Given the description of an element on the screen output the (x, y) to click on. 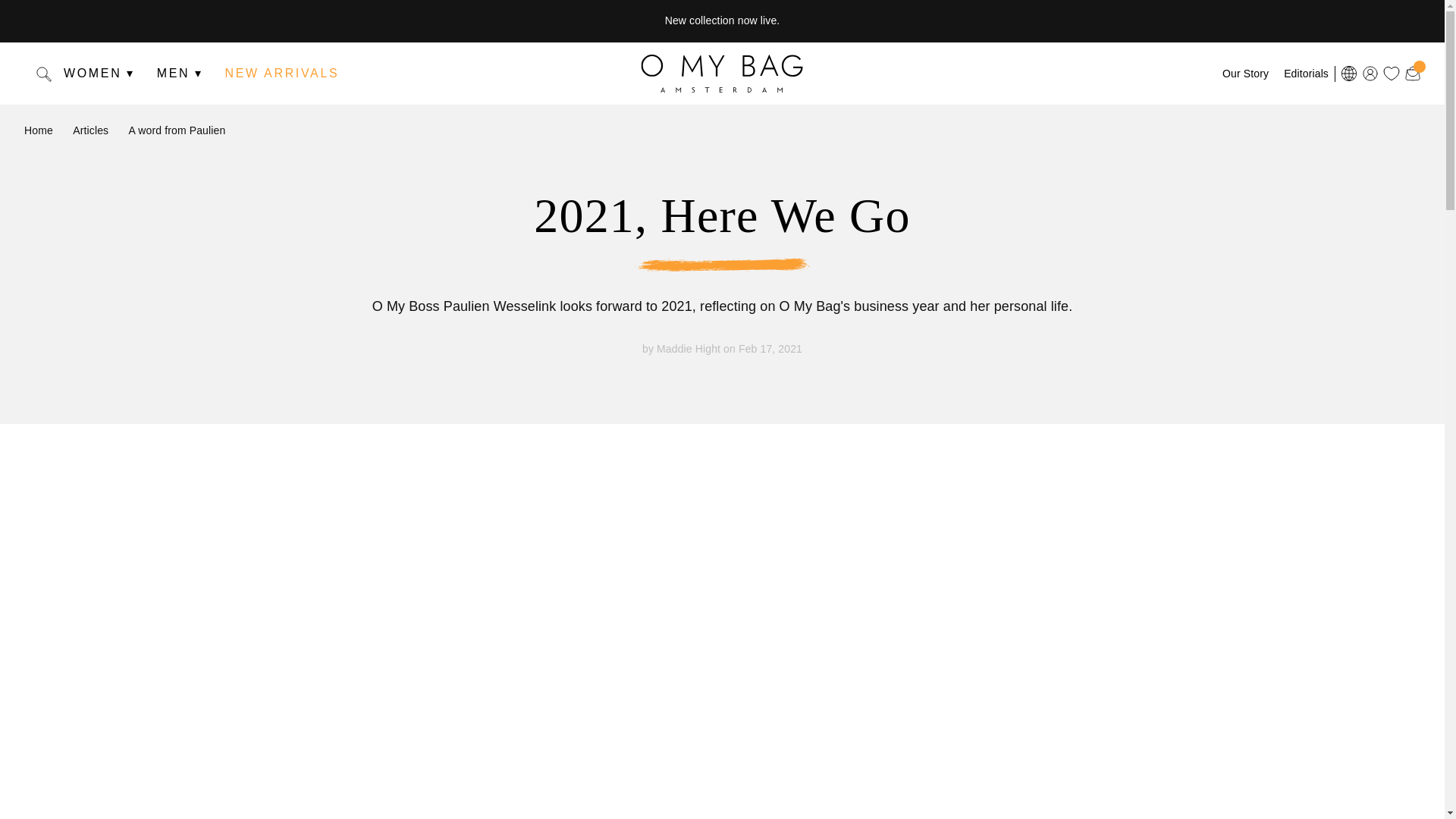
My Account (1369, 73)
Cart (1413, 72)
Link to Home Page (721, 73)
